Given the description of an element on the screen output the (x, y) to click on. 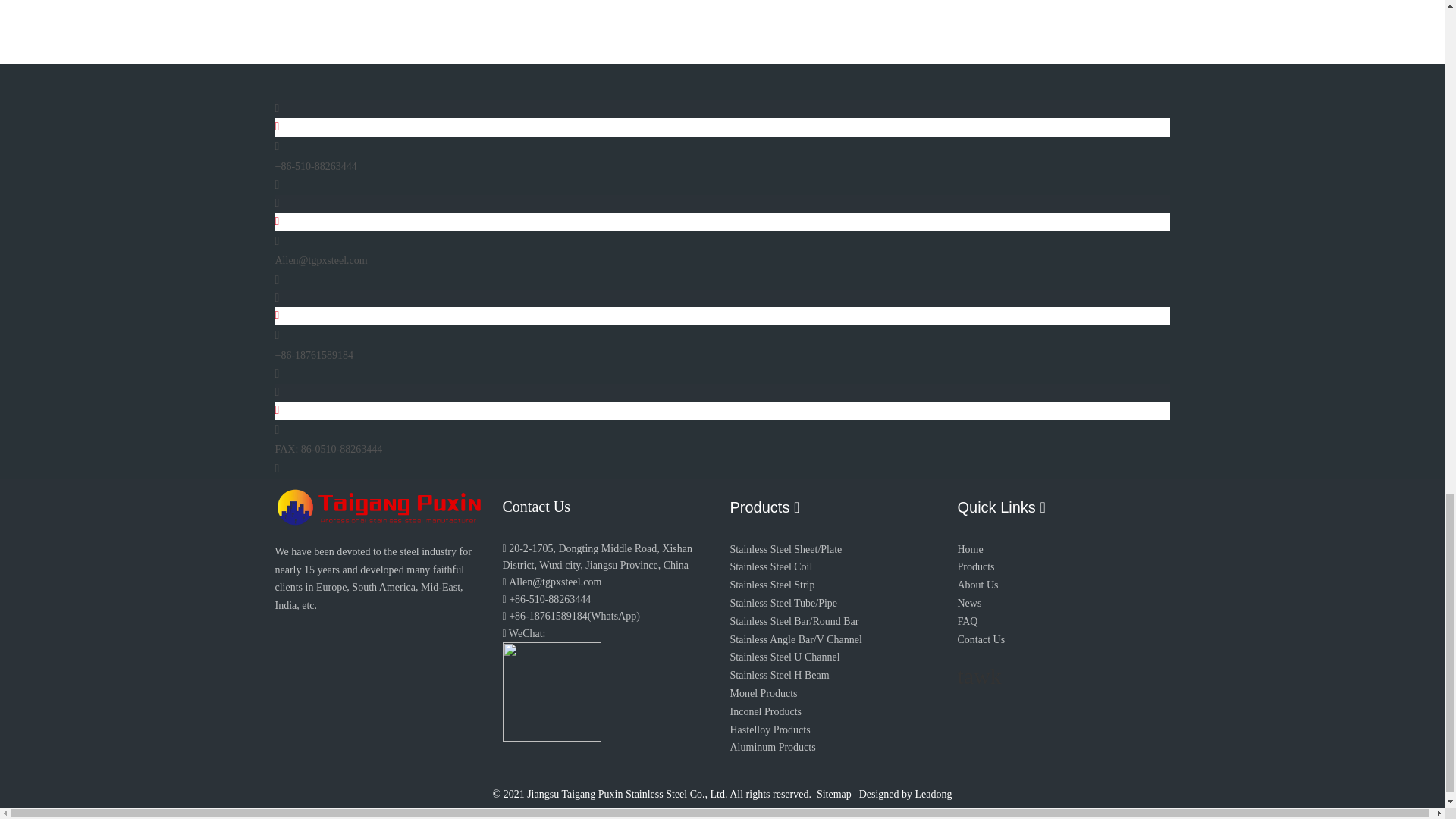
Stainless Steel H Beam (778, 674)
Stainless Steel Strip (771, 584)
Monel Products (762, 693)
Stainless Steel Strip (771, 584)
FAX: 86-0510-88263444 (328, 449)
Stainless Steel Coil (770, 566)
Stainless Steel U Channel (784, 656)
Stainless Steel Coil (770, 566)
